Given the description of an element on the screen output the (x, y) to click on. 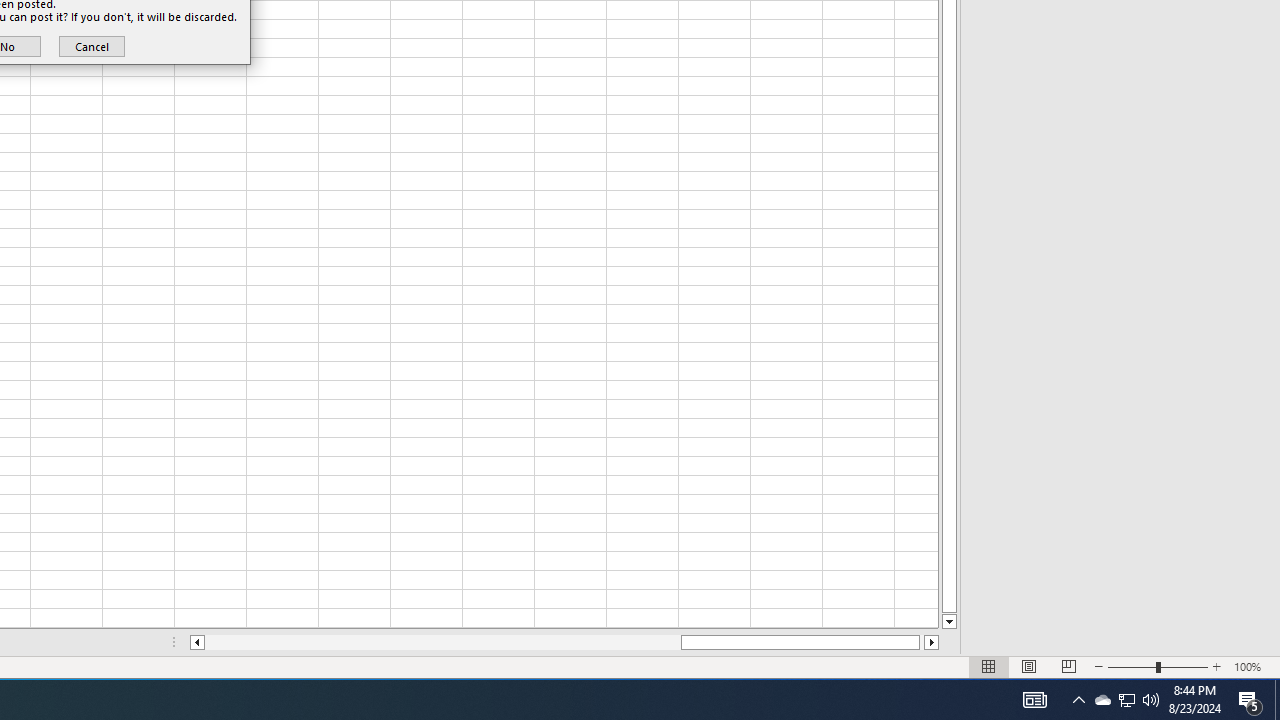
Action Center, 5 new notifications (1126, 699)
Show desktop (1250, 699)
Cancel (1277, 699)
Page left (91, 46)
